Given the description of an element on the screen output the (x, y) to click on. 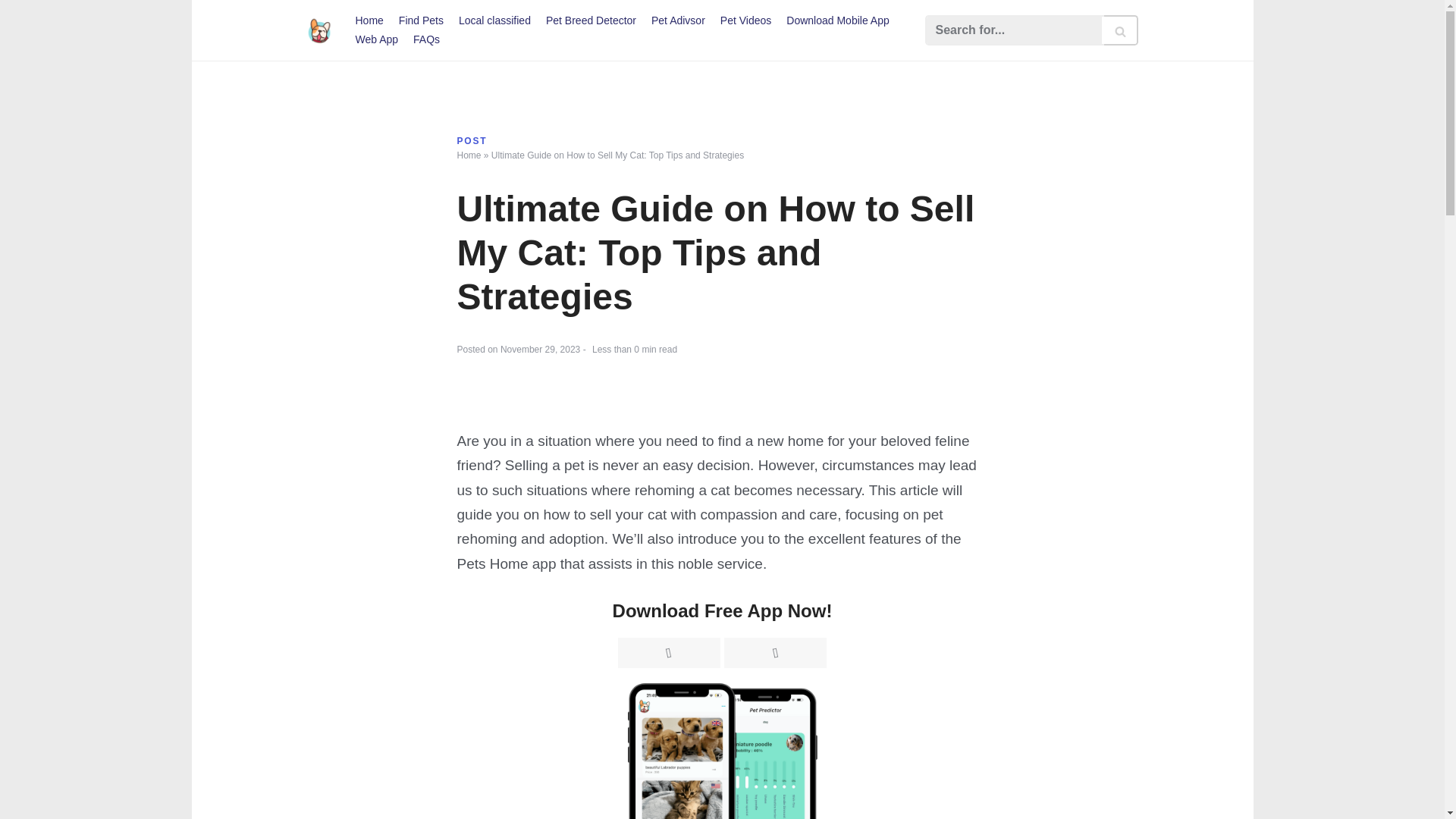
FAQs (426, 39)
Web App (376, 39)
Home (468, 154)
Pet Videos (745, 20)
Pet Breed Detector (591, 20)
November 29, 2023 (539, 348)
Pet Adivsor (677, 20)
POST (471, 140)
Download Mobile App (837, 20)
Home (368, 20)
